Given the description of an element on the screen output the (x, y) to click on. 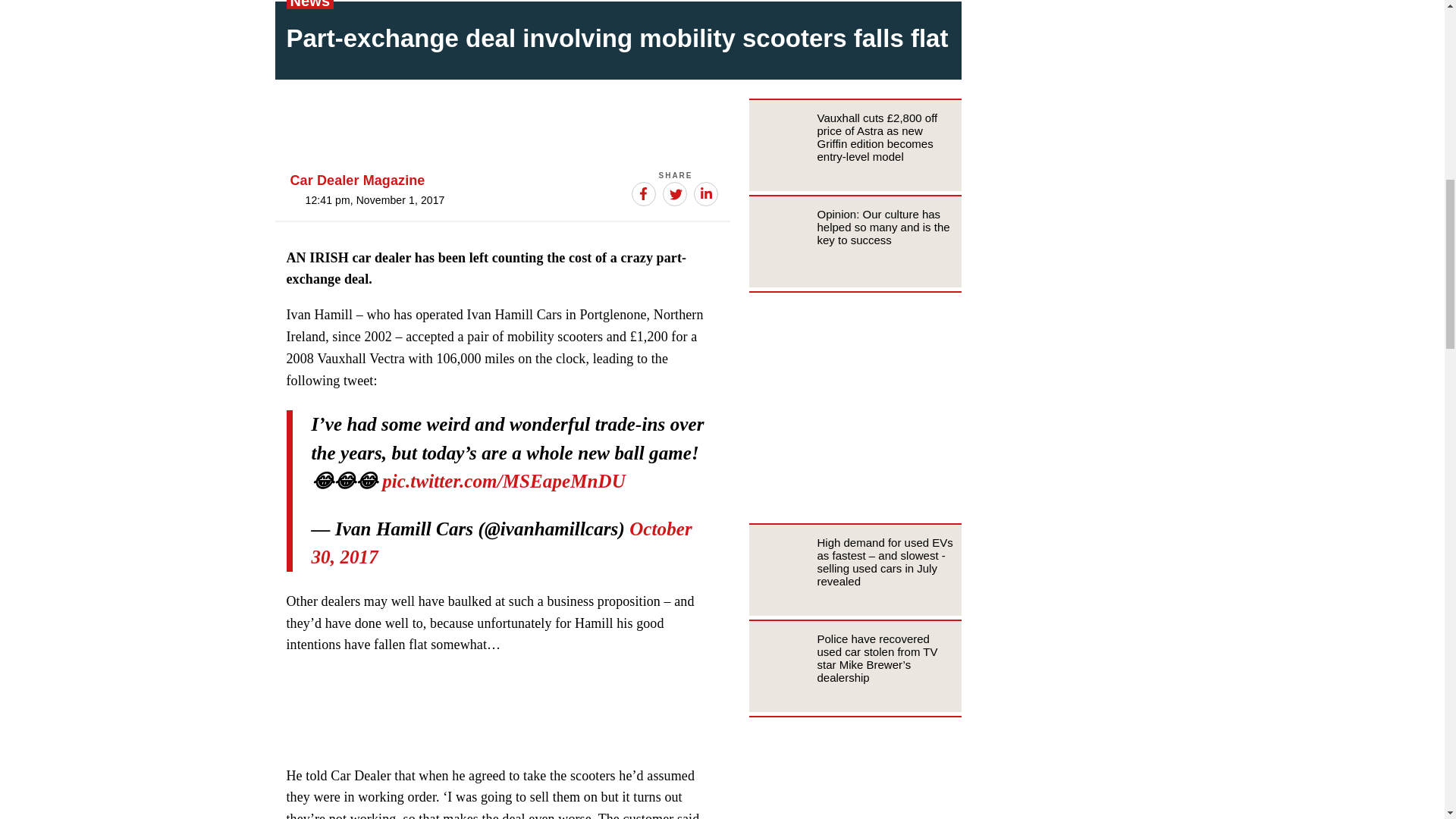
Posts by Car Dealer Magazine (357, 180)
Car Dealer Magazine (357, 180)
News (309, 4)
October 30, 2017 (501, 543)
